Given the description of an element on the screen output the (x, y) to click on. 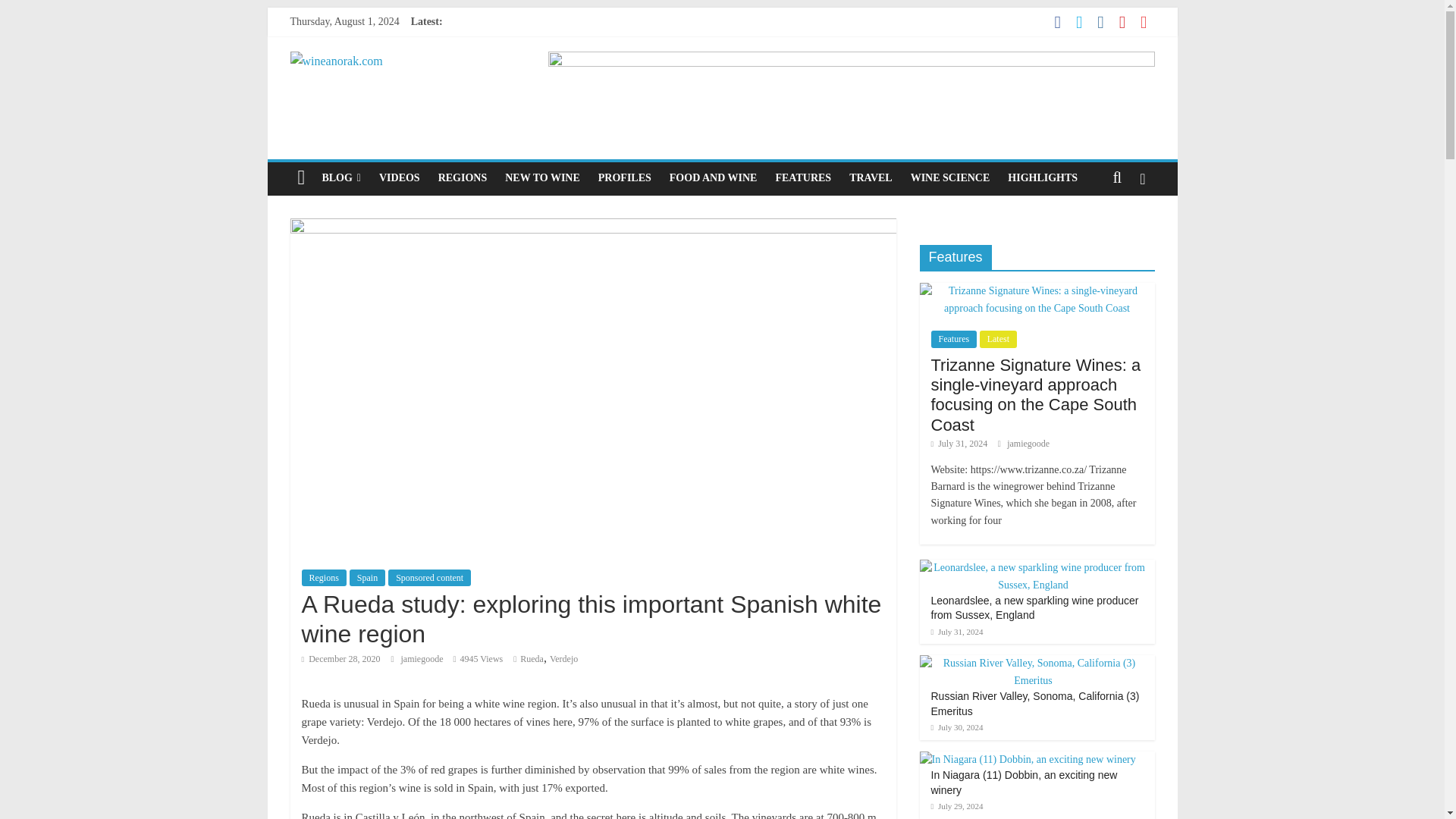
12:32 pm (340, 658)
FOOD AND WINE (714, 178)
jamiegoode (422, 658)
PROFILES (625, 178)
jamiegoode (422, 658)
December 28, 2020 (340, 658)
VIDEOS (399, 178)
Download This Theme (341, 178)
Regions (323, 577)
Verdejo (564, 658)
NEW TO WINE (542, 178)
Spain (367, 577)
WINE SCIENCE (949, 178)
HIGHLIGHTS (1042, 178)
